Given the description of an element on the screen output the (x, y) to click on. 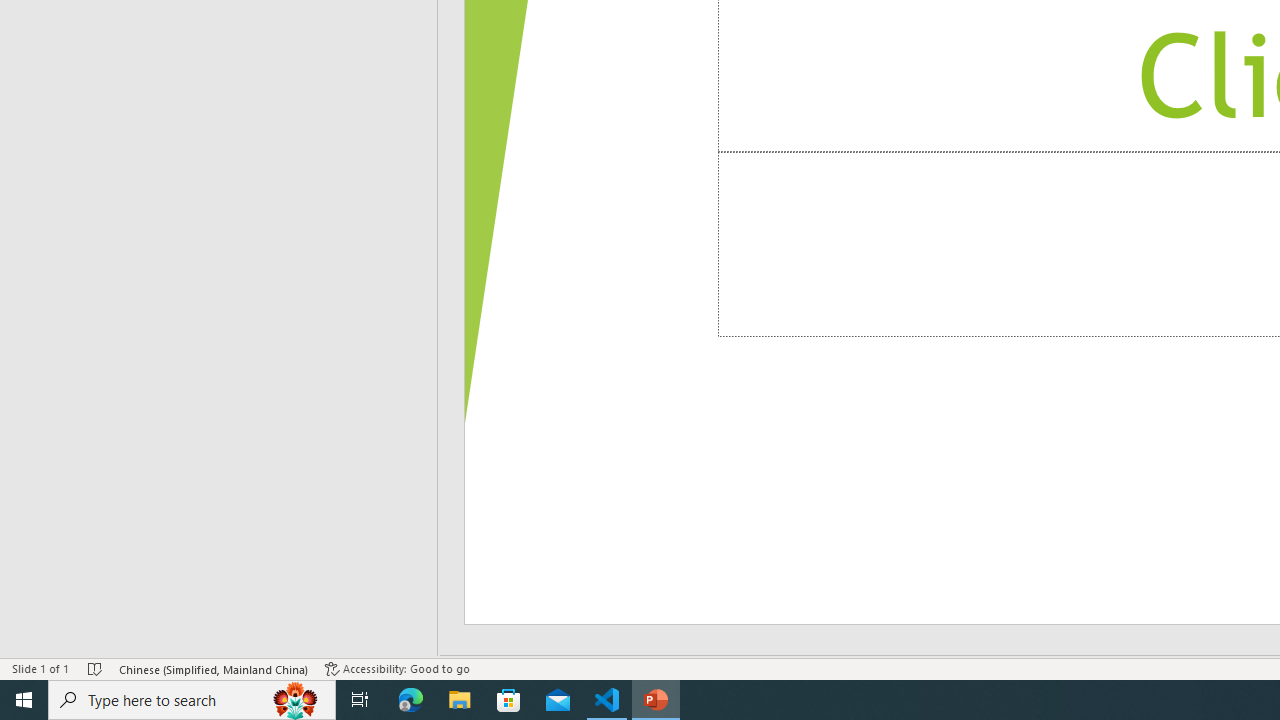
Accessibility Checker Accessibility: Good to go (397, 668)
